Given the description of an element on the screen output the (x, y) to click on. 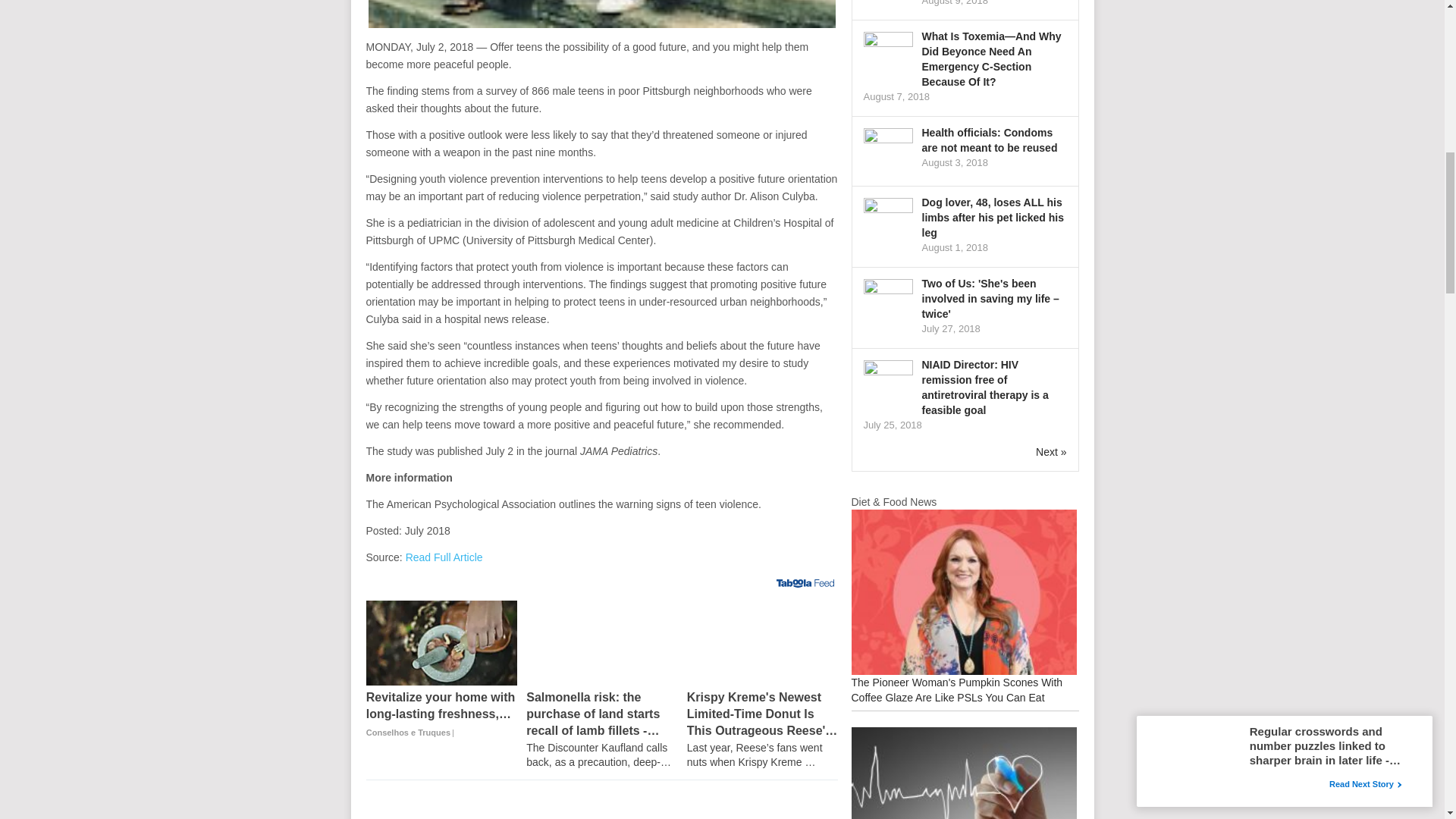
Read Full Article (444, 557)
